Given the description of an element on the screen output the (x, y) to click on. 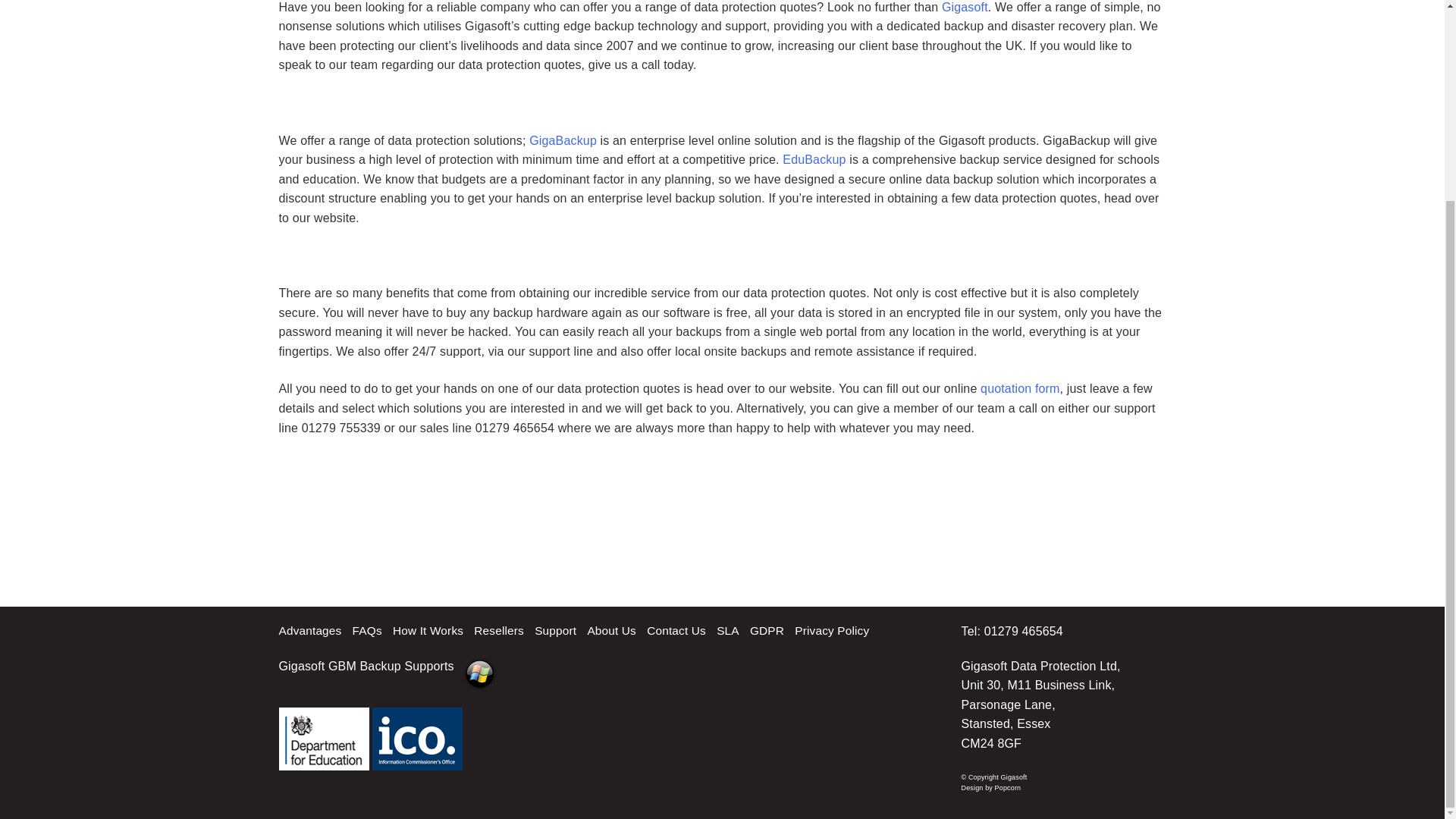
How It Works (428, 630)
quotation form (1019, 388)
GigaBackup (562, 140)
FAQs (366, 630)
Resellers (499, 630)
Advantages (310, 630)
Gigasoft (965, 6)
Support (555, 630)
EduBackup (814, 159)
